Given the description of an element on the screen output the (x, y) to click on. 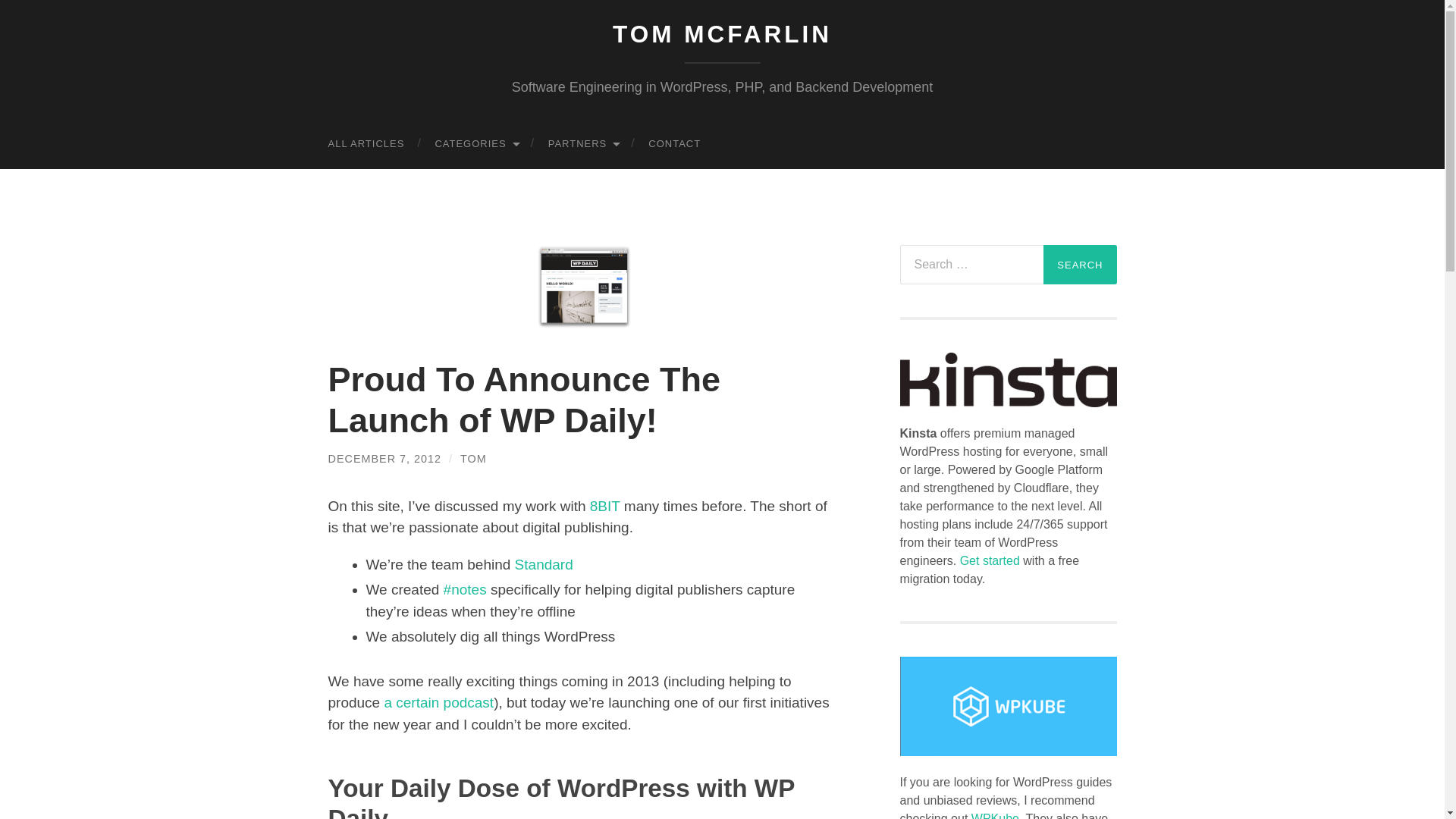
PARTNERS (582, 142)
8BIT (604, 505)
CATEGORIES (475, 142)
TOM MCFARLIN (721, 33)
DECEMBER 7, 2012 (384, 458)
TOM (473, 458)
WordPress Podcast (438, 702)
Posts by Tom (473, 458)
ALL ARTICLES (366, 142)
Search (1079, 264)
Search (1079, 264)
Standard (544, 564)
8BIT (604, 505)
Search (1079, 264)
Standard Theme (544, 564)
